Given the description of an element on the screen output the (x, y) to click on. 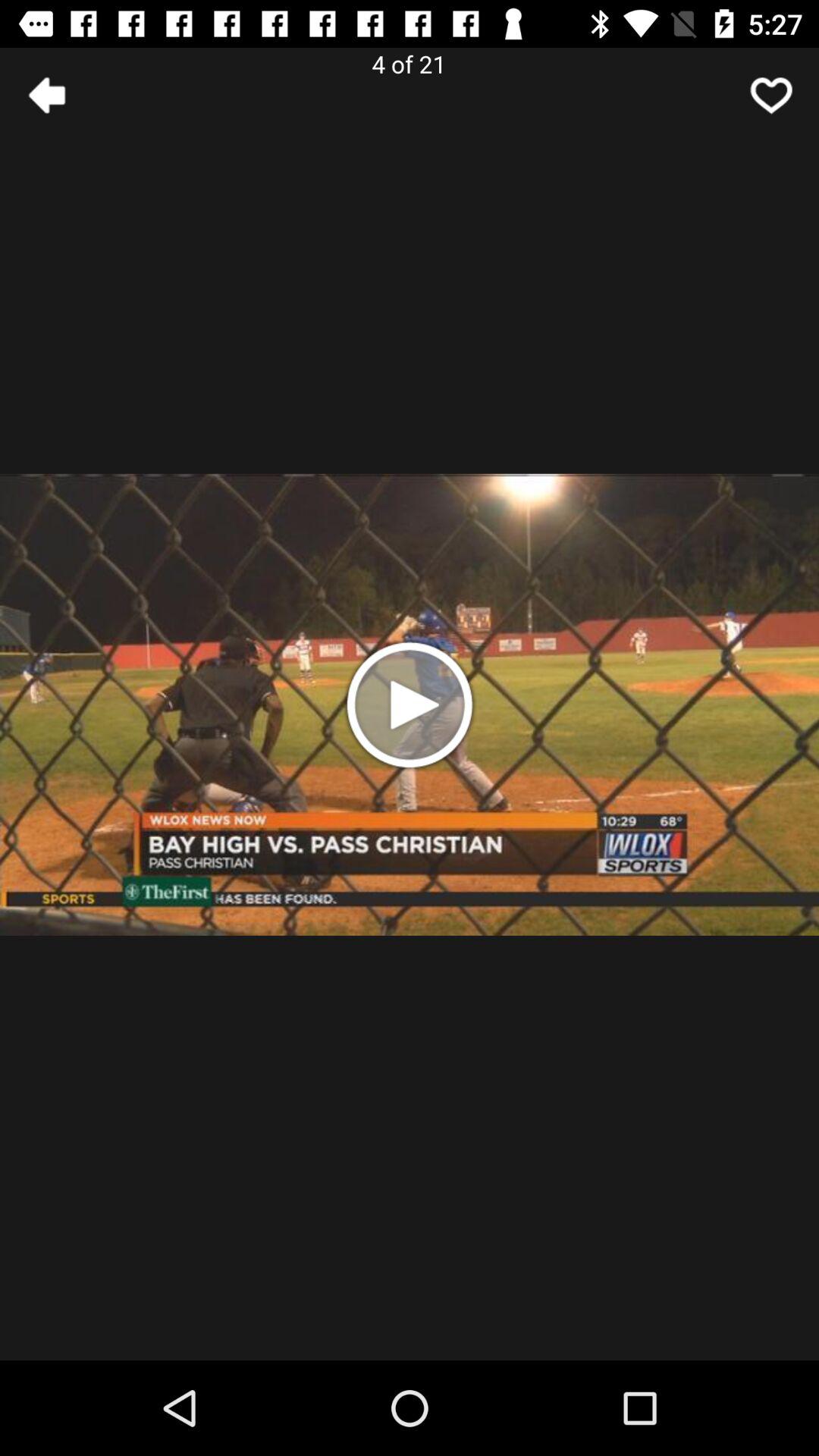
like (771, 95)
